Given the description of an element on the screen output the (x, y) to click on. 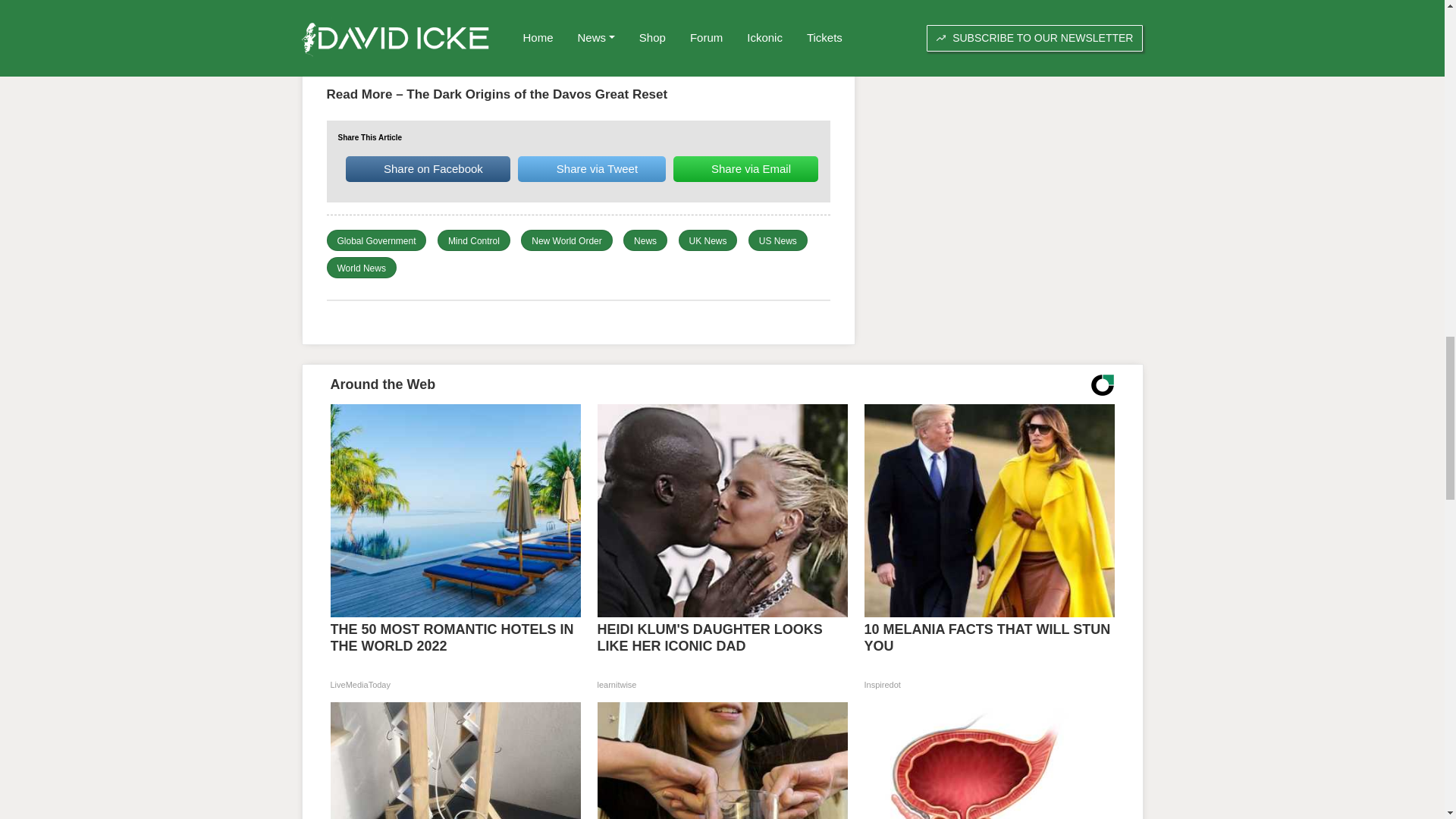
Share via Email (745, 168)
World News (360, 267)
Global Government (375, 240)
Share via Tweet (591, 168)
News (644, 240)
Share on Facebook (428, 168)
US News (777, 240)
New World Order (566, 240)
UK News (707, 240)
Mind Control (473, 240)
